Given the description of an element on the screen output the (x, y) to click on. 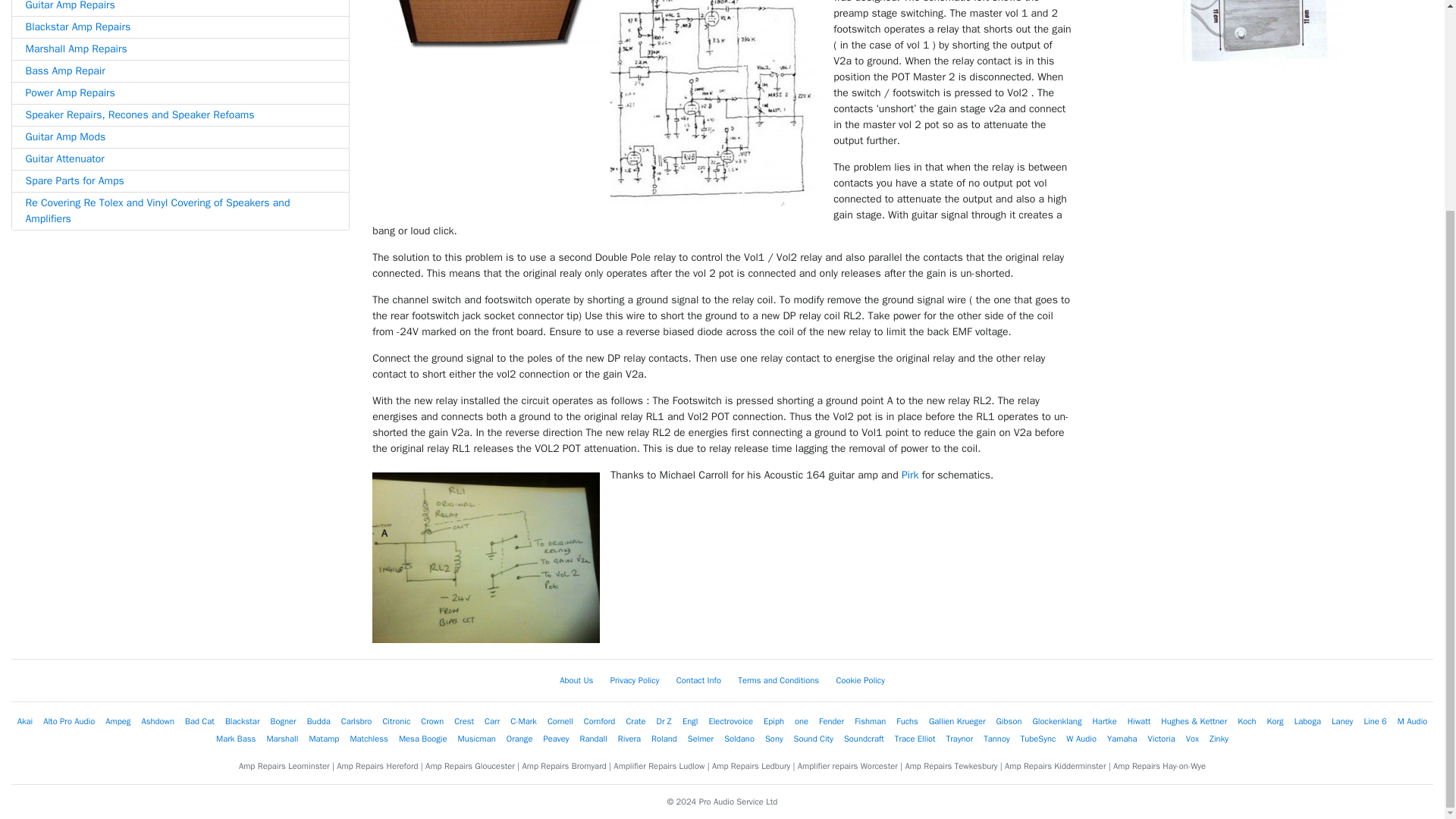
Guitar Attenuator (180, 158)
Crown (432, 720)
Bogner (282, 720)
Ashdown (157, 720)
Guitar Amp Repairs (180, 7)
Guitar Amp Mods (180, 137)
Carlsbro (356, 720)
Pirk (909, 473)
Blackstar Amp Repairs (180, 25)
